Given the description of an element on the screen output the (x, y) to click on. 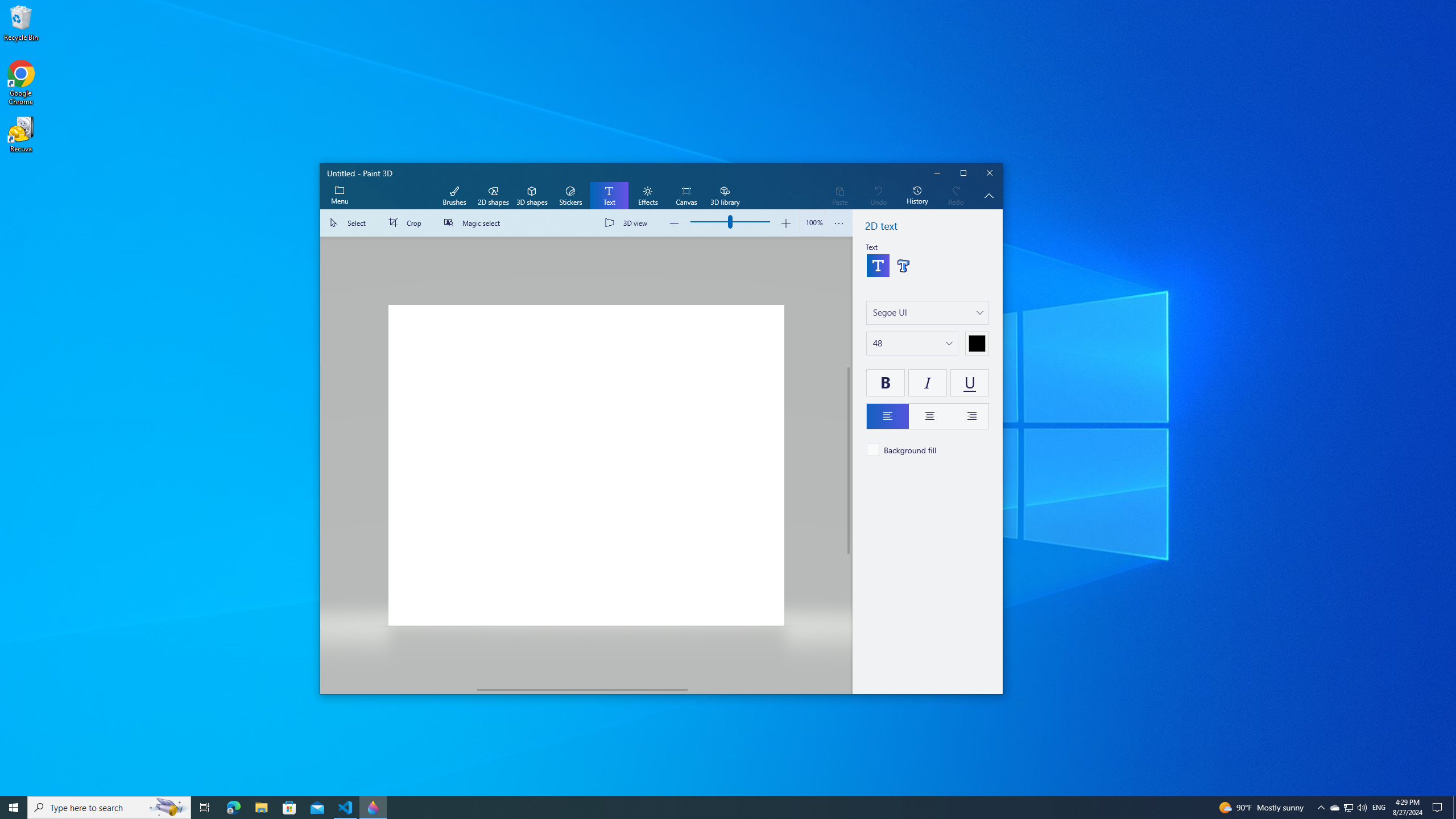
Text (608, 195)
Expand menu (339, 195)
Center your text (929, 416)
